Given the description of an element on the screen output the (x, y) to click on. 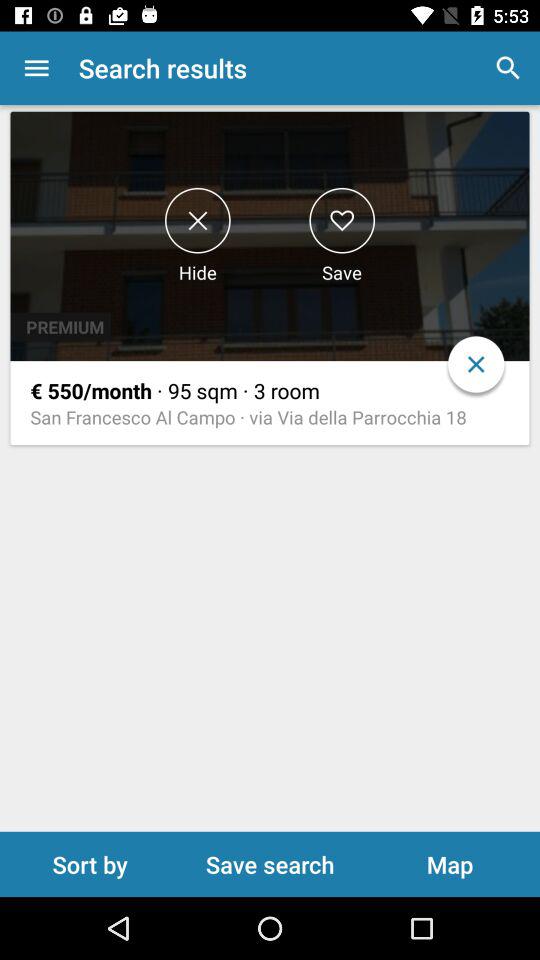
choose icon to the left of the search results app (36, 68)
